Given the description of an element on the screen output the (x, y) to click on. 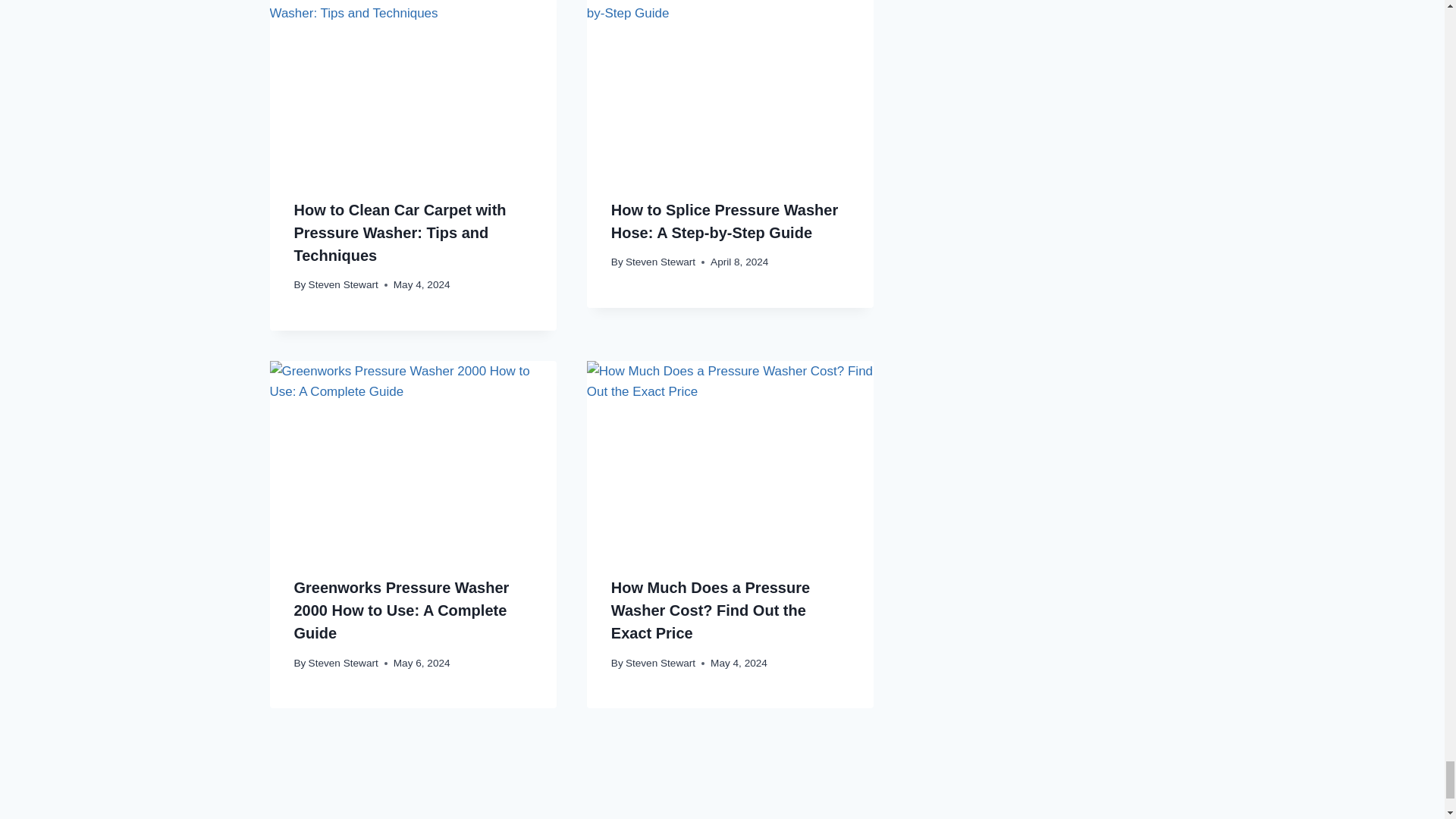
How to Splice Pressure Washer Hose: A Step-by-Step Guide (729, 86)
Greenworks Pressure Washer 2000 How to Use: A Complete Guide (412, 456)
